Given the description of an element on the screen output the (x, y) to click on. 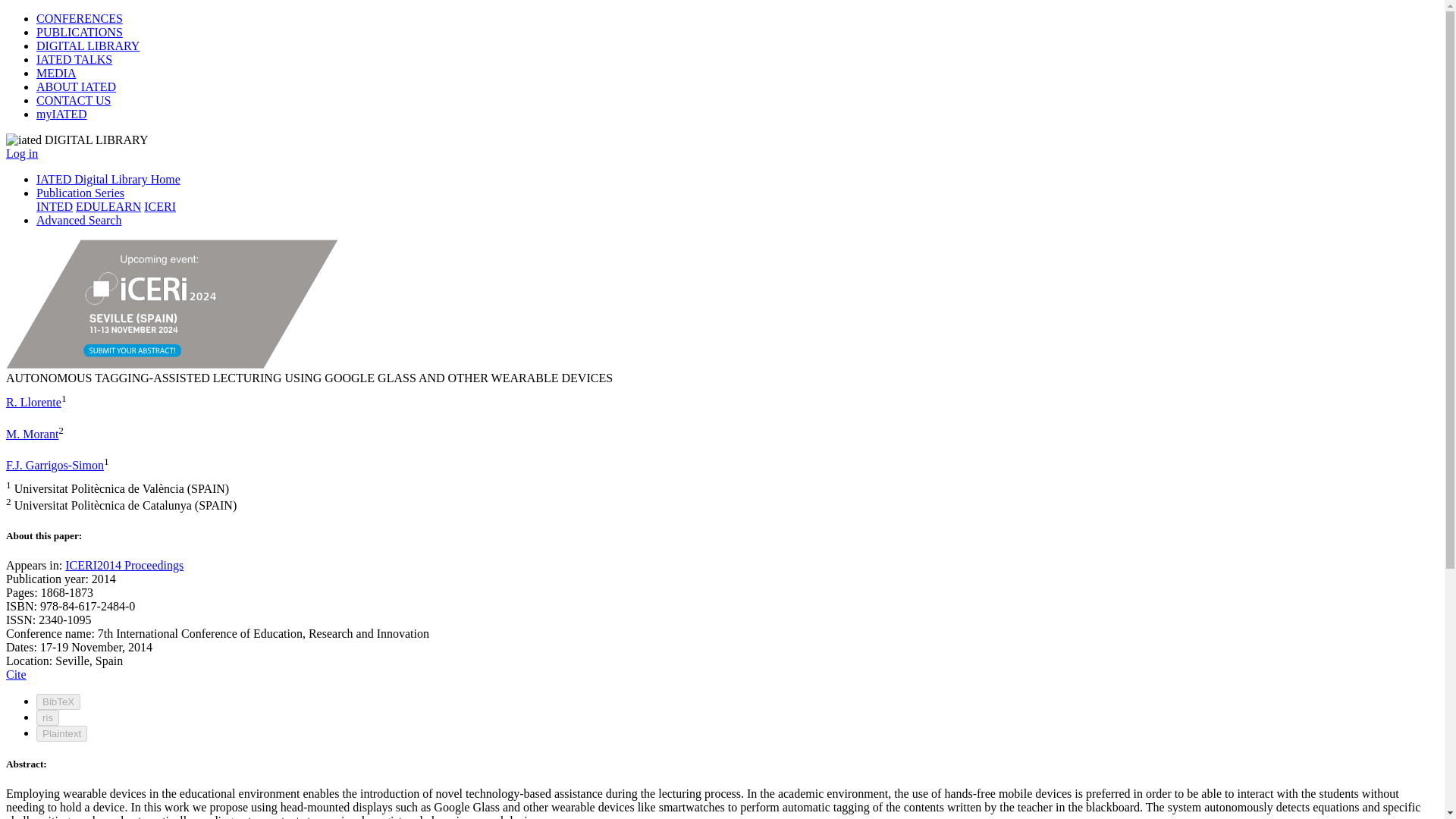
Cite (15, 674)
ICERI (160, 205)
ICERI2014 Proceedings (124, 564)
CONTACT US (73, 100)
ris (47, 717)
IATED TALKS (74, 59)
DIGITAL LIBRARY (87, 45)
MEDIA (55, 72)
PUBLICATIONS (79, 31)
BibTeX (58, 701)
M. Morant (31, 433)
myIATED (61, 113)
Plaintext (61, 733)
Publication Series (79, 192)
EDULEARN (108, 205)
